Given the description of an element on the screen output the (x, y) to click on. 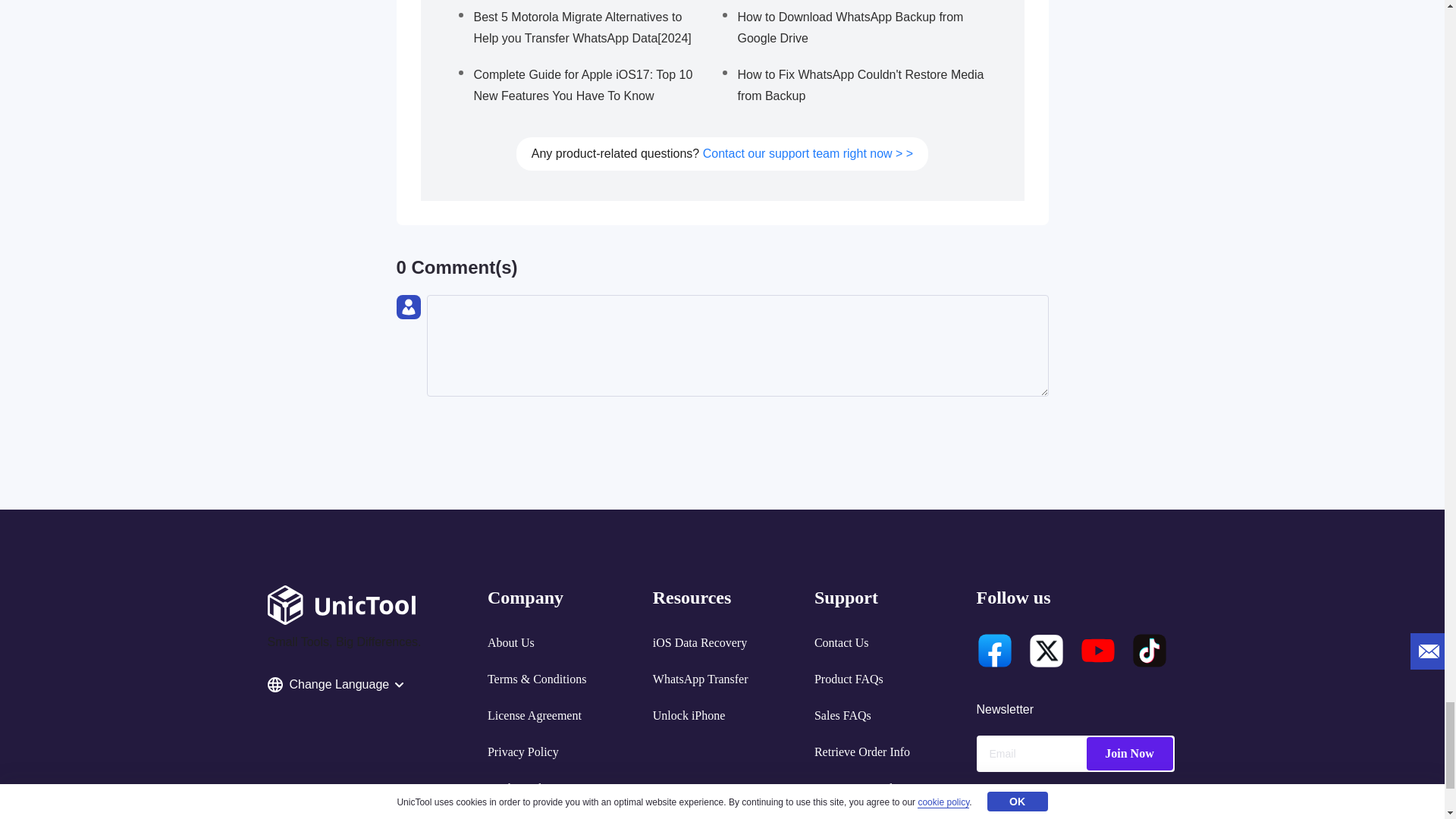
youtube (1098, 650)
facebook (994, 650)
tiktok (1149, 650)
twitter (1045, 650)
